Given the description of an element on the screen output the (x, y) to click on. 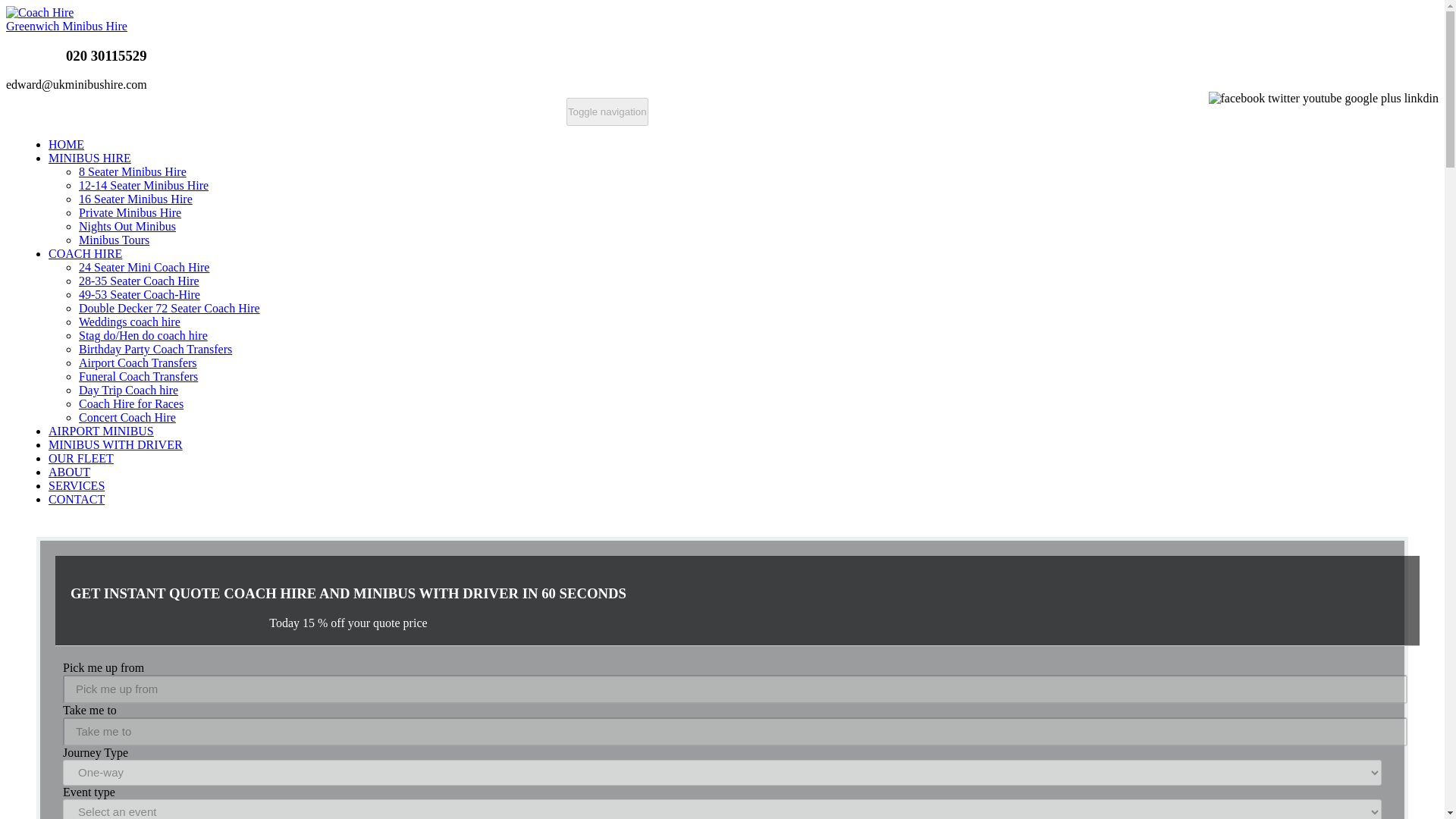
ABOUT (69, 472)
8 Seater Minibus Hire (132, 171)
Birthday Party Coach Transfers (154, 349)
Double Decker 72 Seater Coach Hire (169, 308)
12-14 Seater Minibus Hire (143, 185)
HOME (66, 144)
MINIBUS HIRE (89, 157)
Concert Coach Hire (127, 417)
Nights Out Minibus (127, 226)
CONTACT (76, 499)
SERVICES (76, 485)
Private Minibus Hire (129, 212)
16 Seater Minibus Hire (135, 198)
Greenwich Minibus Hire (66, 18)
Toggle navigation (606, 111)
